Given the description of an element on the screen output the (x, y) to click on. 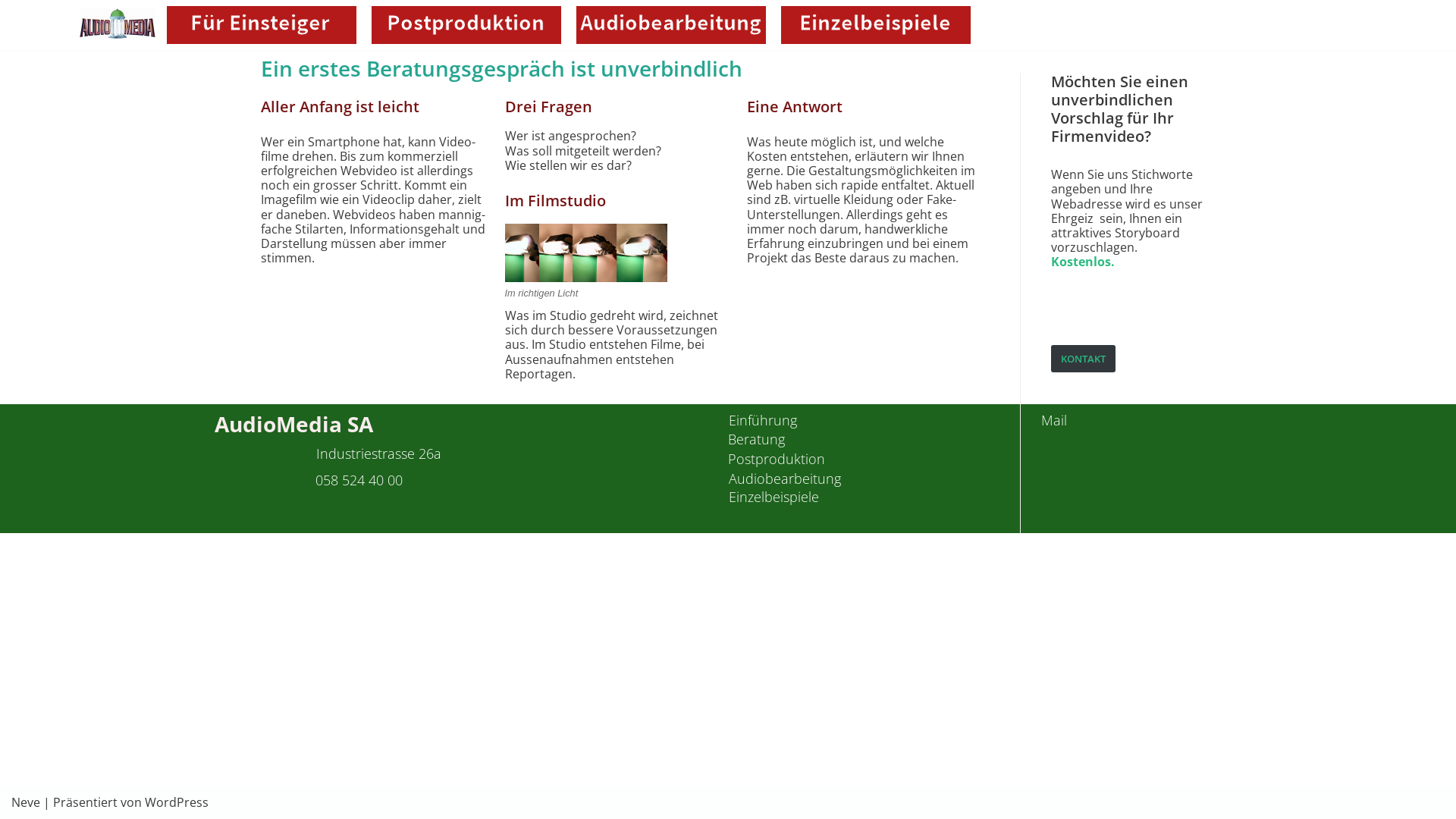
Audiobearbeitung Element type: text (784, 478)
058 524 40 00 Element type: text (358, 479)
Beratung Element type: text (756, 438)
Zum Inhalt Element type: text (15, 7)
Postproduktion Element type: text (776, 458)
Mail Element type: text (1053, 420)
Kostenlos. Element type: text (1082, 261)
WordPress Element type: text (176, 801)
Industriestrasse 26a Element type: text (378, 453)
Einzelbeispiele Element type: text (773, 496)
Neve Element type: text (25, 801)
KONTAKT Element type: text (1083, 358)
